Given the description of an element on the screen output the (x, y) to click on. 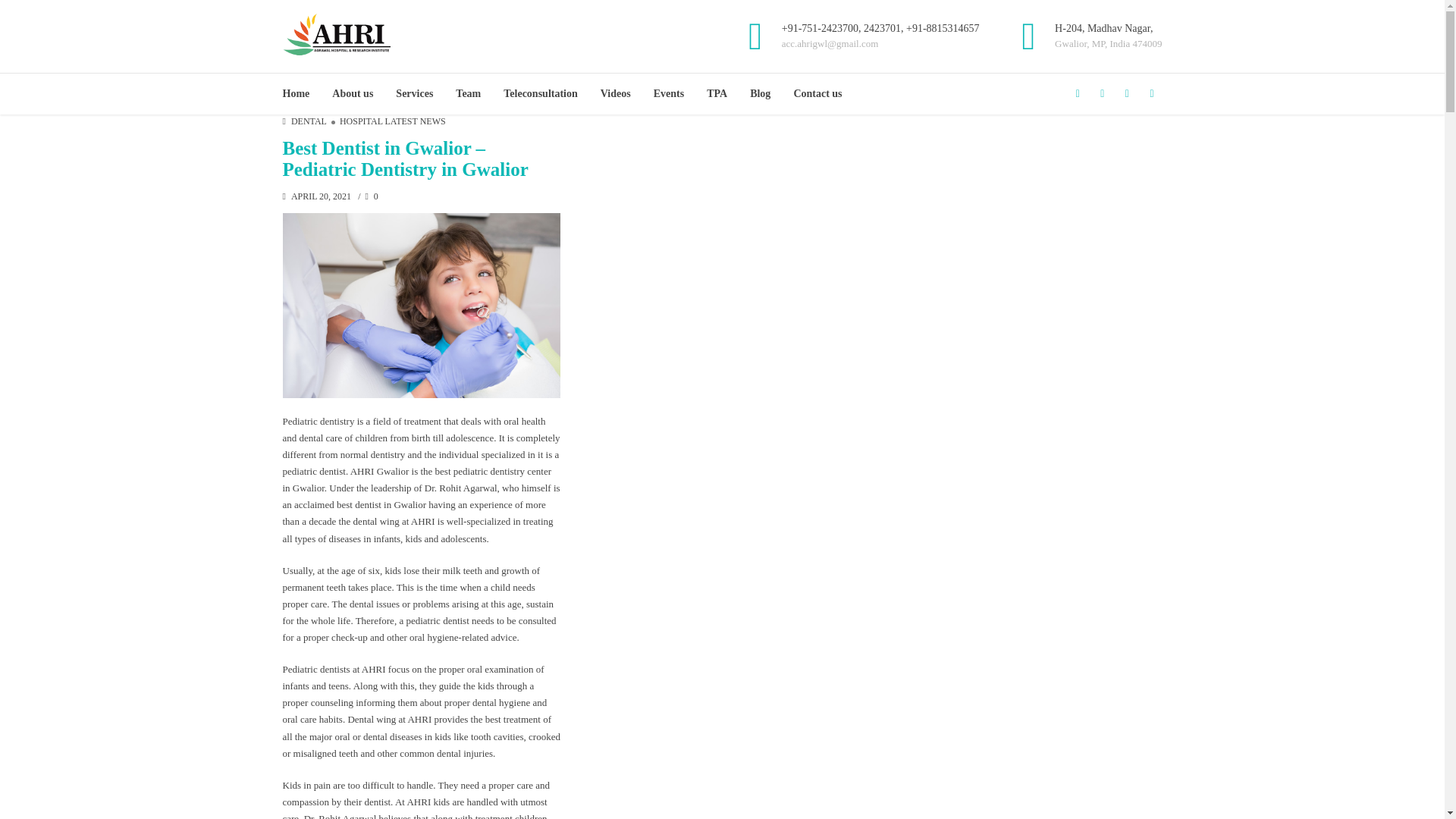
Contact us (817, 93)
Services (414, 93)
About us (351, 93)
Teleconsultation (540, 93)
0 (371, 196)
DENTAL (308, 121)
HOSPITAL LATEST NEWS (385, 121)
